Given the description of an element on the screen output the (x, y) to click on. 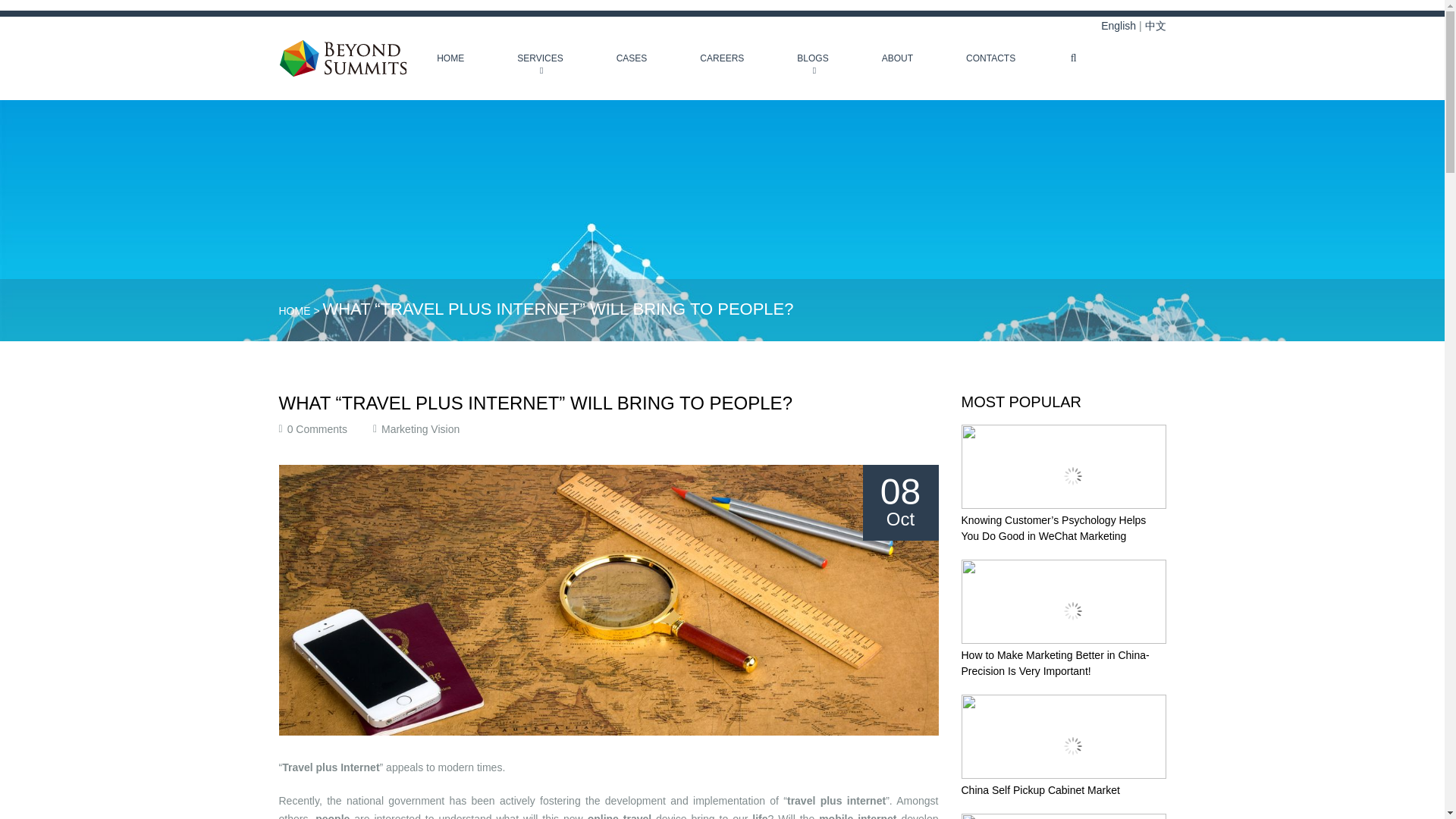
English (1117, 25)
SERVICES (540, 57)
CAREERS (721, 57)
